Given the description of an element on the screen output the (x, y) to click on. 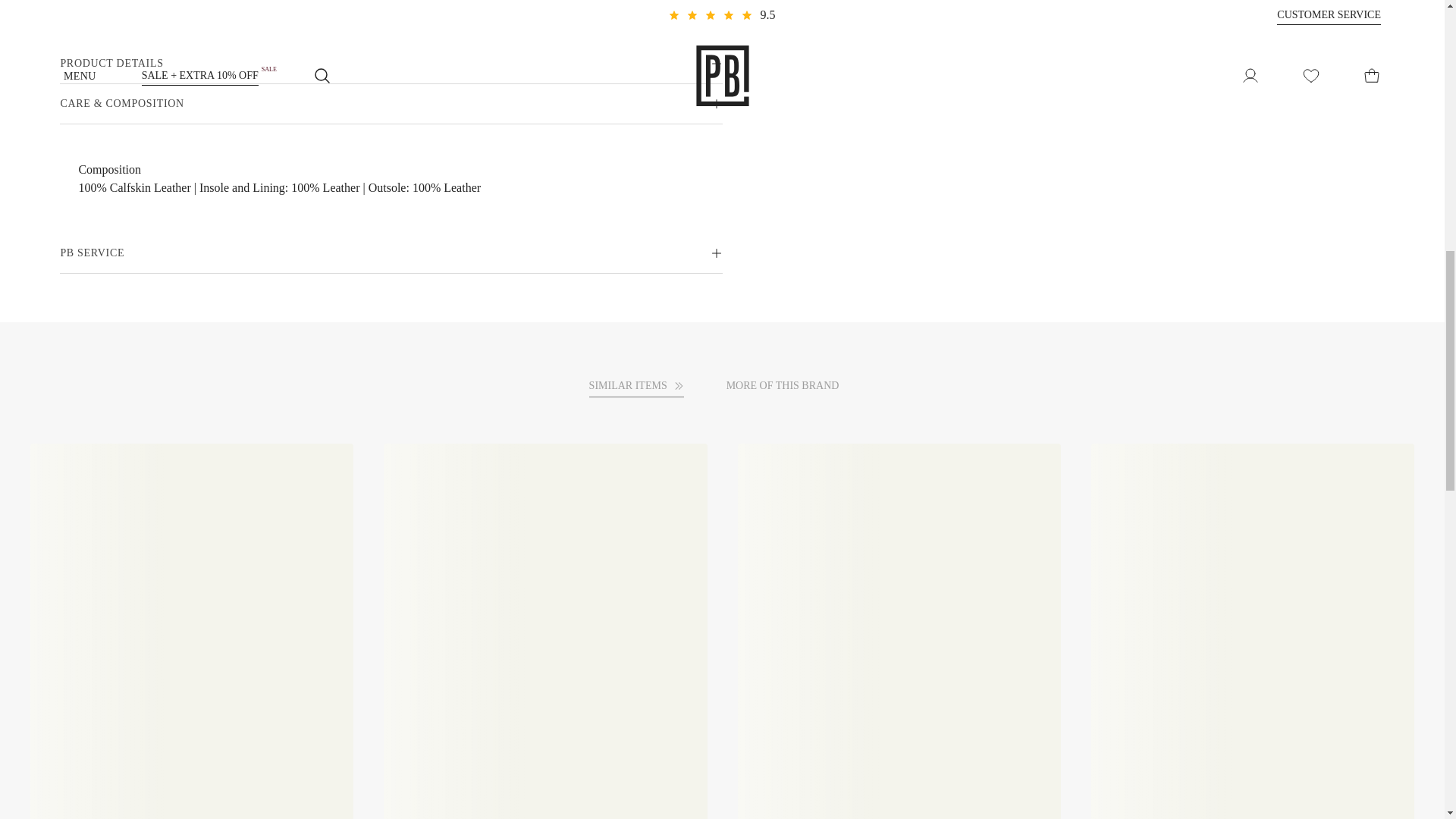
PRODUCT DETAILS (390, 64)
MORE OF THIS BRAND (791, 385)
PB SERVICE (390, 253)
SIMILAR ITEMS (636, 385)
